Given the description of an element on the screen output the (x, y) to click on. 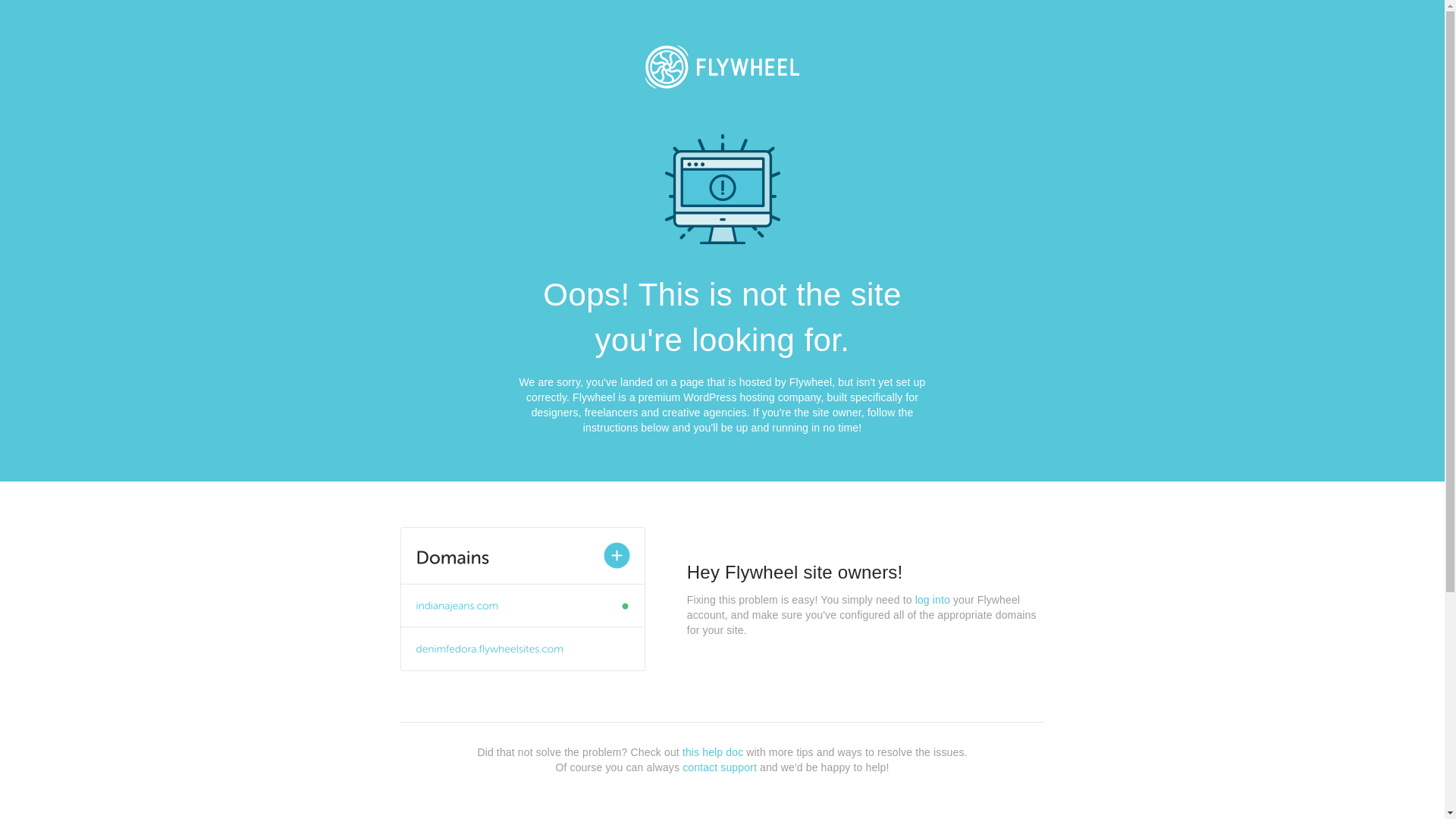
log into Element type: text (932, 599)
this help doc Element type: text (712, 752)
contact support Element type: text (719, 767)
